Given the description of an element on the screen output the (x, y) to click on. 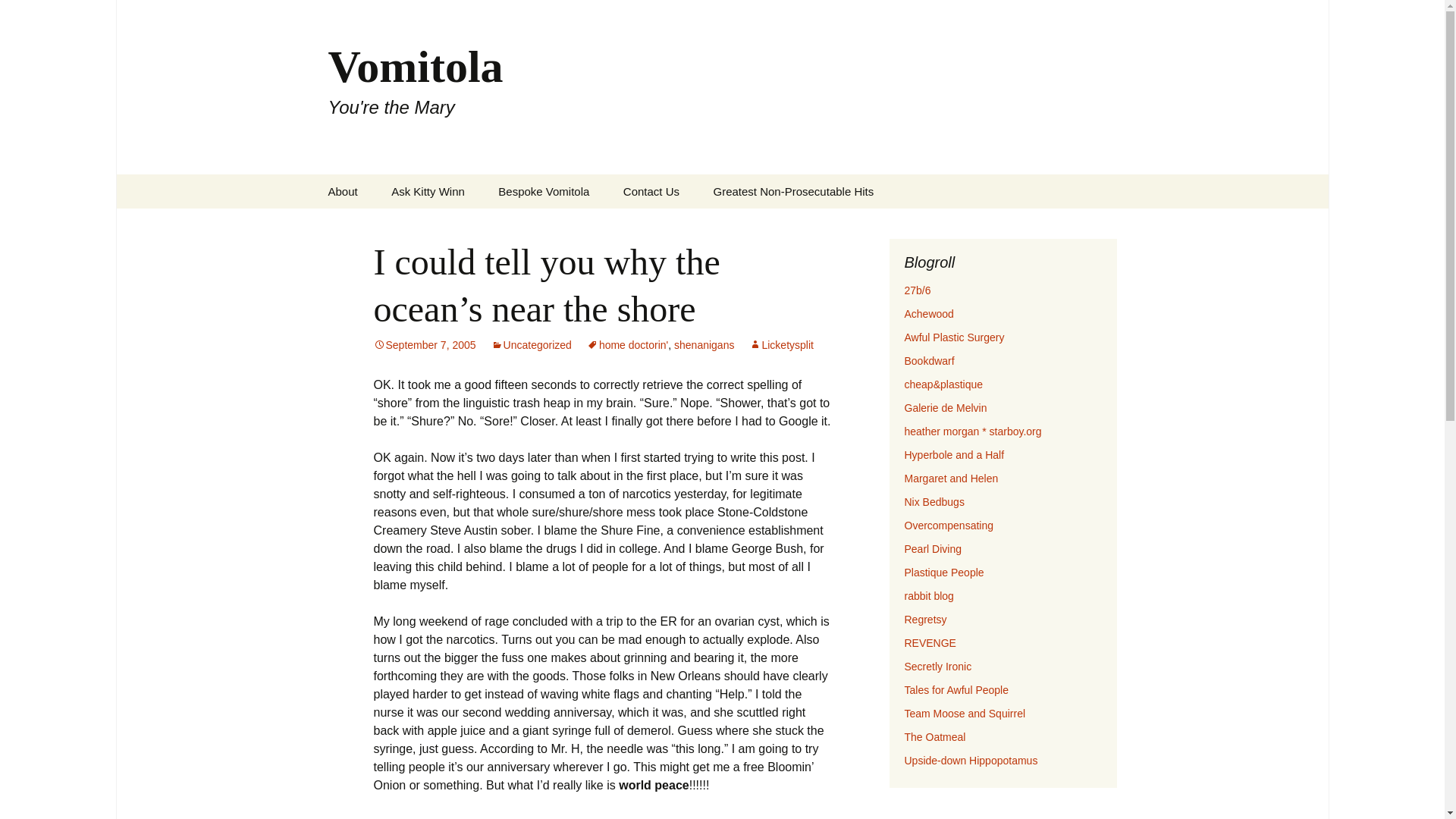
The Oatmeal (934, 736)
Ask Kitty Winn (427, 191)
Secretly Ironic (937, 666)
Hyperbole and a Half (954, 454)
Plastique People (944, 572)
Awful Plastic Surgery (954, 337)
Margaret and Helen (950, 478)
View all posts by Licketysplit (780, 345)
Contact Us (651, 191)
Been bedbuggered? (933, 501)
